Given the description of an element on the screen output the (x, y) to click on. 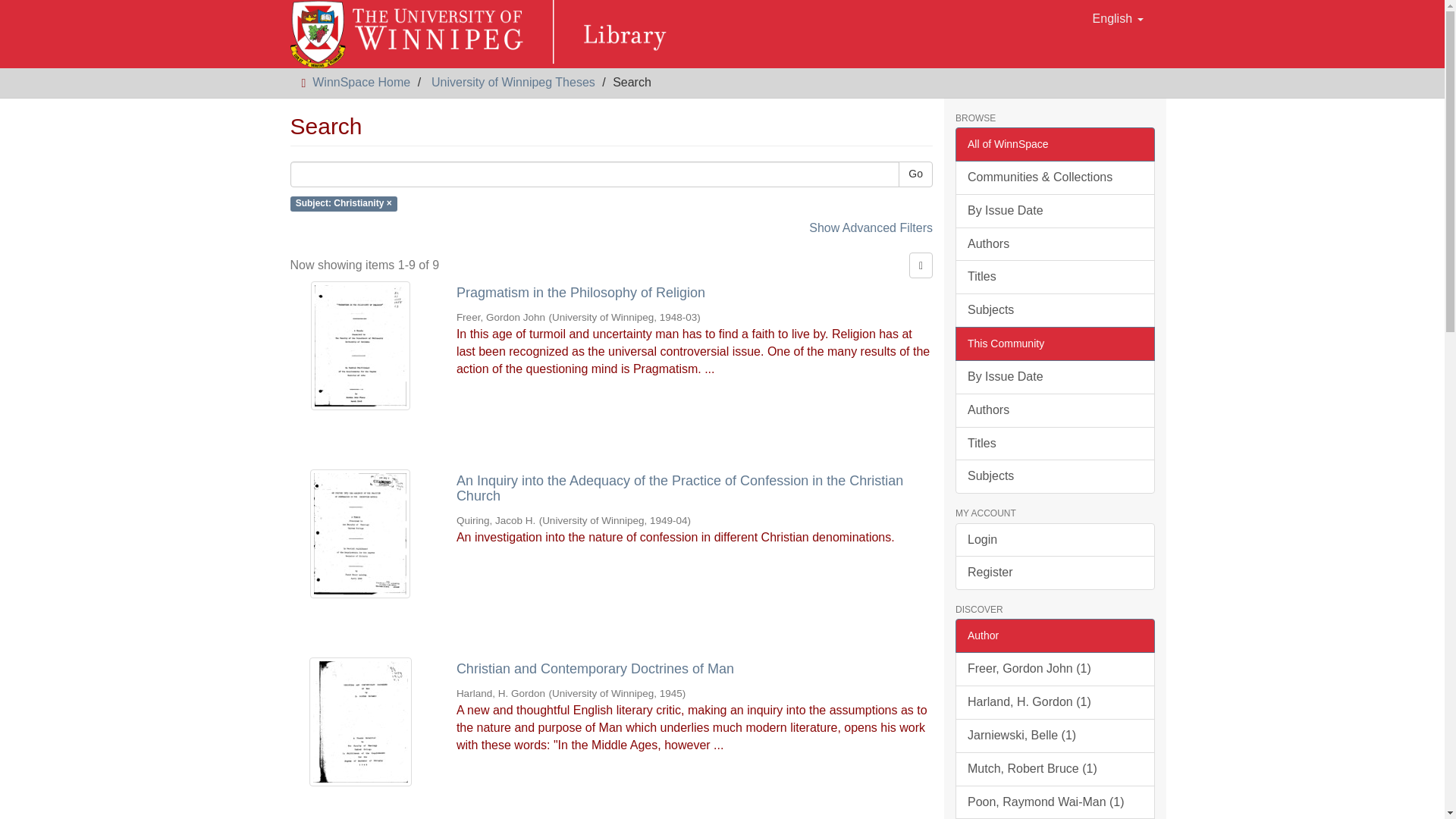
University of Winnipeg Theses (512, 82)
Show Advanced Filters (871, 227)
English  (1117, 18)
Pragmatism in the Philosophy of Religion  (695, 293)
Go (915, 174)
WinnSpace Home (361, 82)
